Given the description of an element on the screen output the (x, y) to click on. 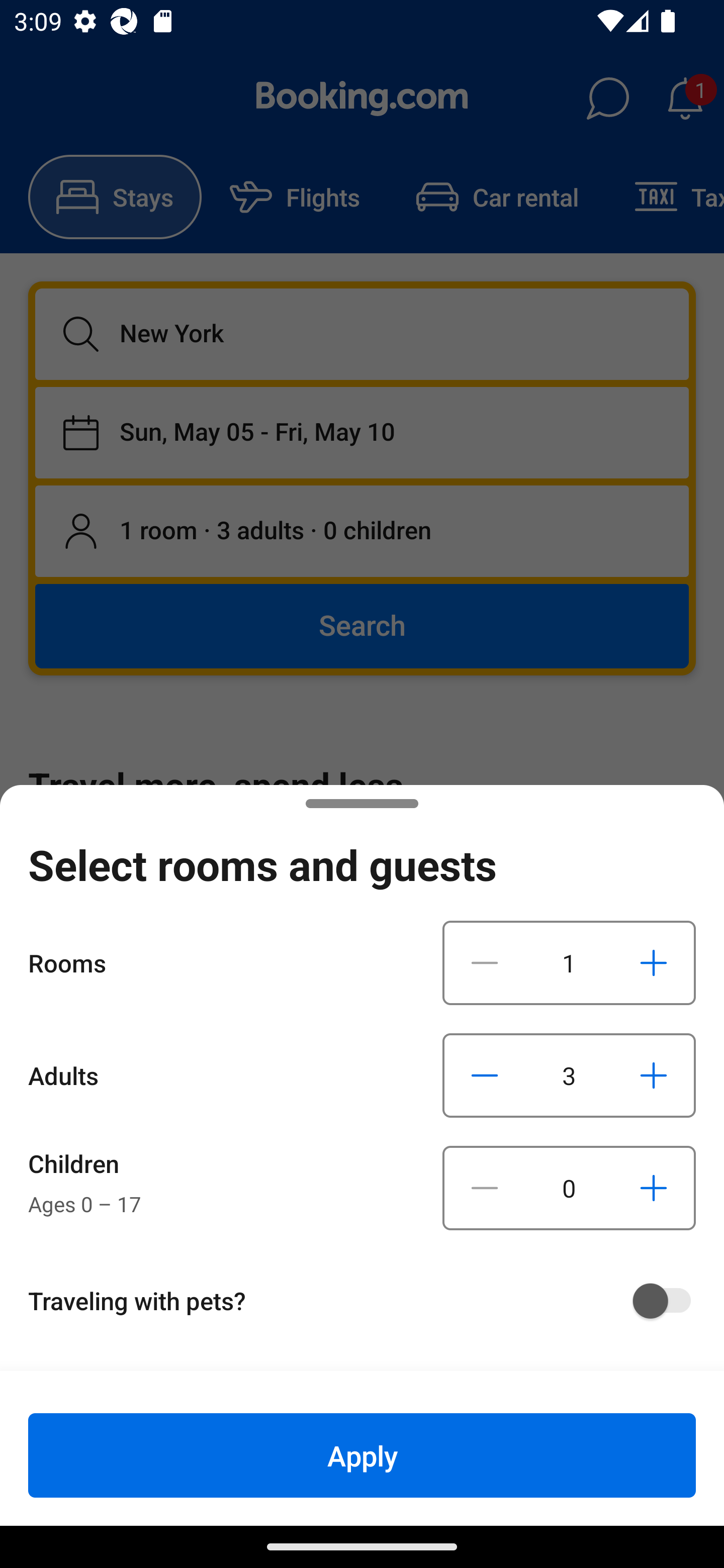
Decrease (484, 962)
Increase (653, 962)
Decrease (484, 1075)
Increase (653, 1075)
Decrease (484, 1188)
Increase (653, 1188)
Traveling with pets? (369, 1300)
Apply (361, 1454)
